Given the description of an element on the screen output the (x, y) to click on. 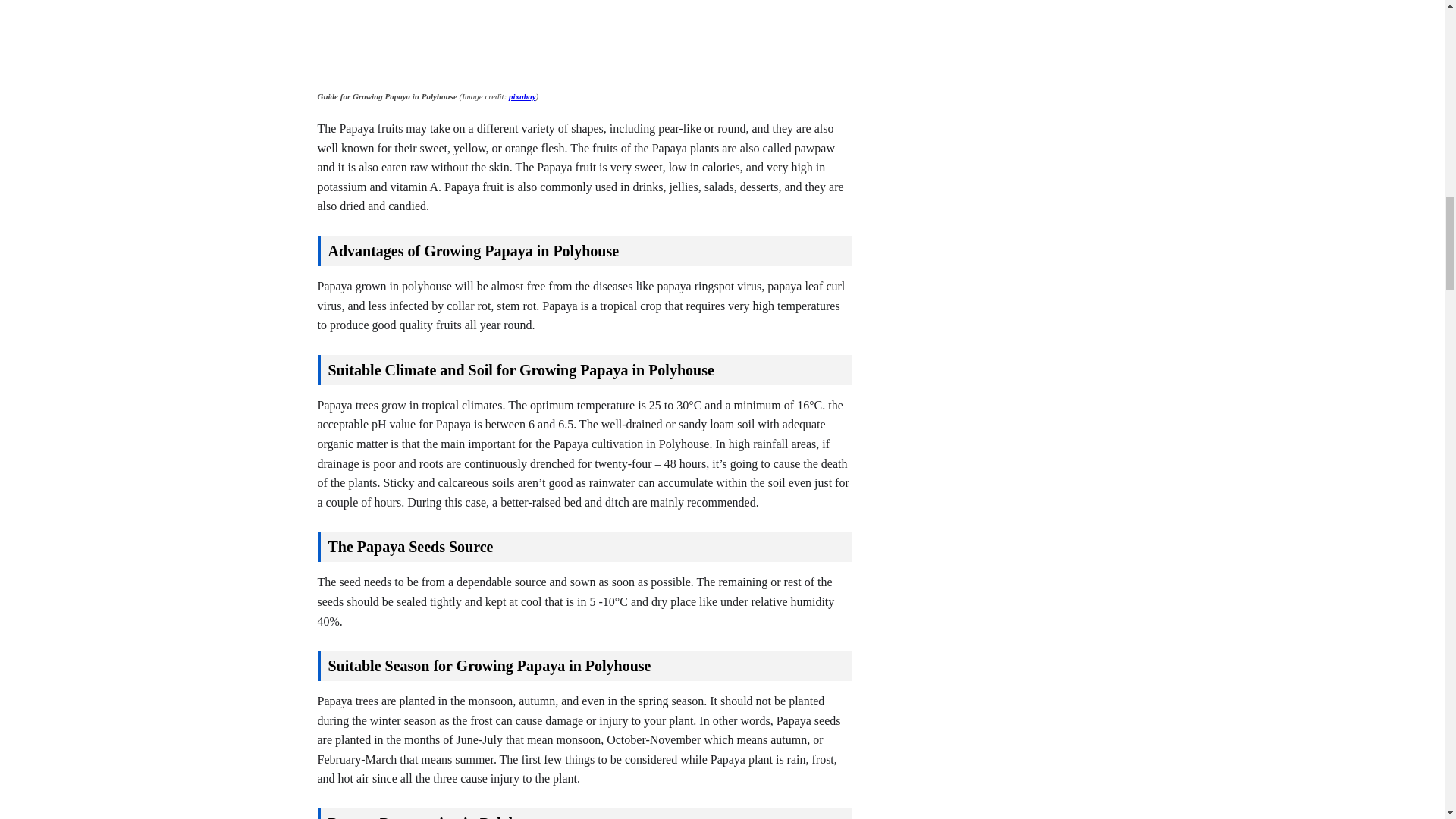
Growing Papaya In Polyhouse - Greenhouse In India 3 (772, 42)
